Given the description of an element on the screen output the (x, y) to click on. 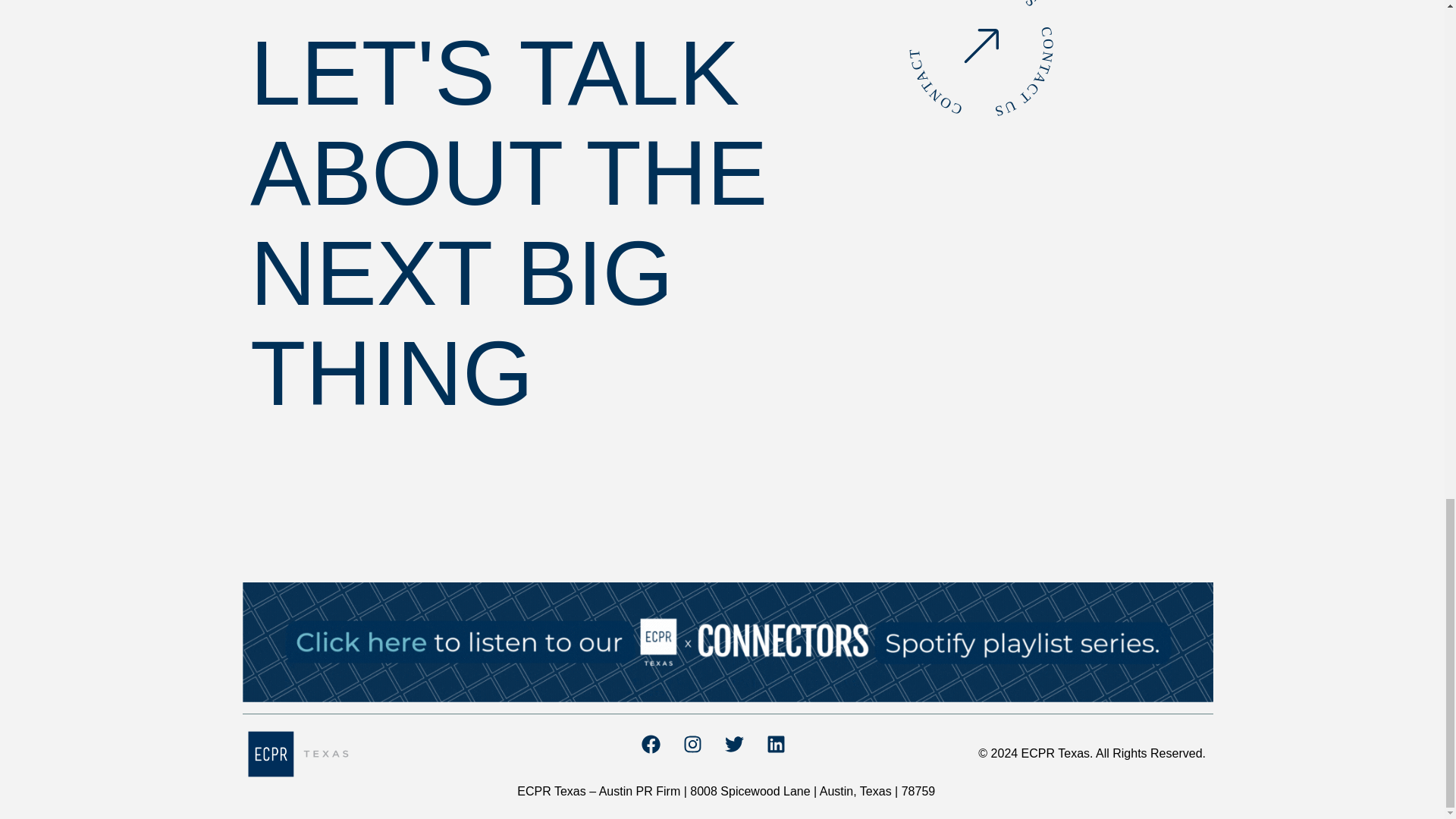
CONTACT US CONTACT US CONTACT US (952, 37)
CONTACT US CONTACT US CONTACT US (980, 65)
